Given the description of an element on the screen output the (x, y) to click on. 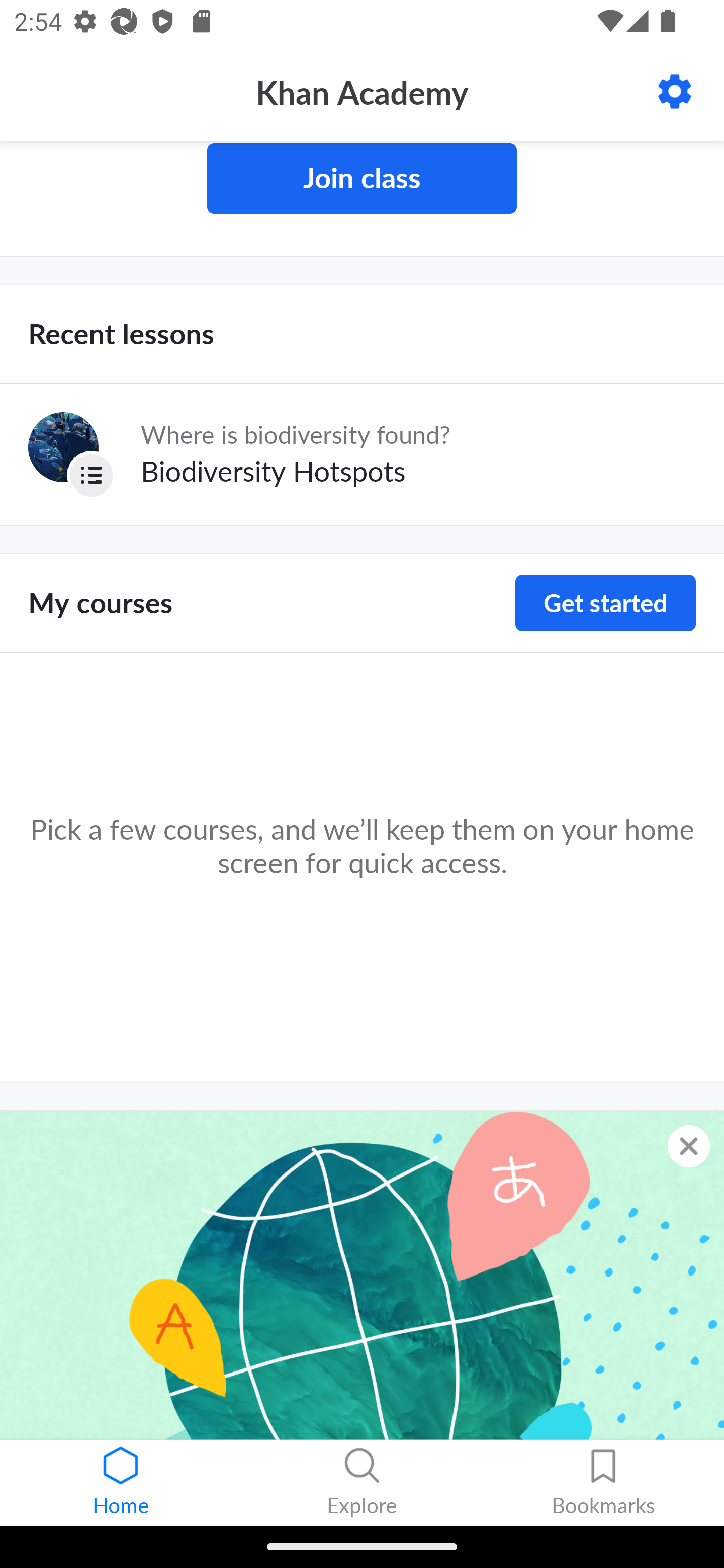
Settings (674, 91)
Join class (361, 177)
Get started (605, 603)
Dismiss (688, 1146)
Home (120, 1482)
Explore (361, 1482)
Bookmarks (603, 1482)
